Given the description of an element on the screen output the (x, y) to click on. 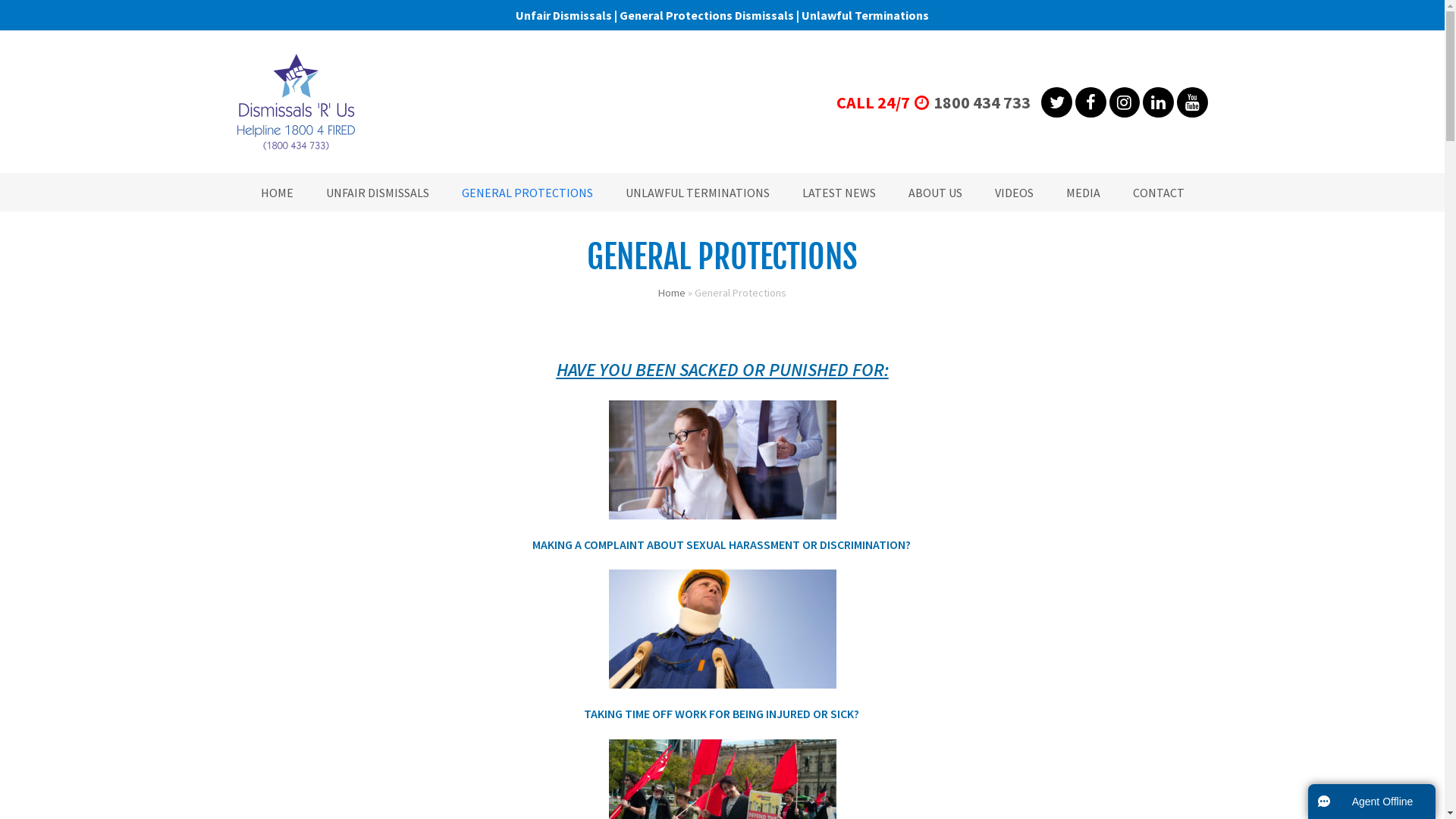
LATEST NEWS Element type: text (839, 192)
Twitter Element type: text (1056, 102)
Instagram Element type: text (1124, 102)
Facebook Element type: text (1090, 102)
VIDEOS Element type: text (1013, 192)
GENERAL PROTECTIONS Element type: text (526, 192)
1800 434 733 Element type: text (981, 101)
Home Element type: text (671, 292)
UNLAWFUL TERMINATIONS Element type: text (696, 192)
MEDIA Element type: text (1083, 192)
HOME Element type: text (276, 192)
YouTube Element type: text (1192, 102)
ABOUT US Element type: text (935, 192)
LinkedIn Element type: text (1157, 102)
UNFAIR DISMISSALS Element type: text (377, 192)
CONTACT Element type: text (1158, 192)
